Given the description of an element on the screen output the (x, y) to click on. 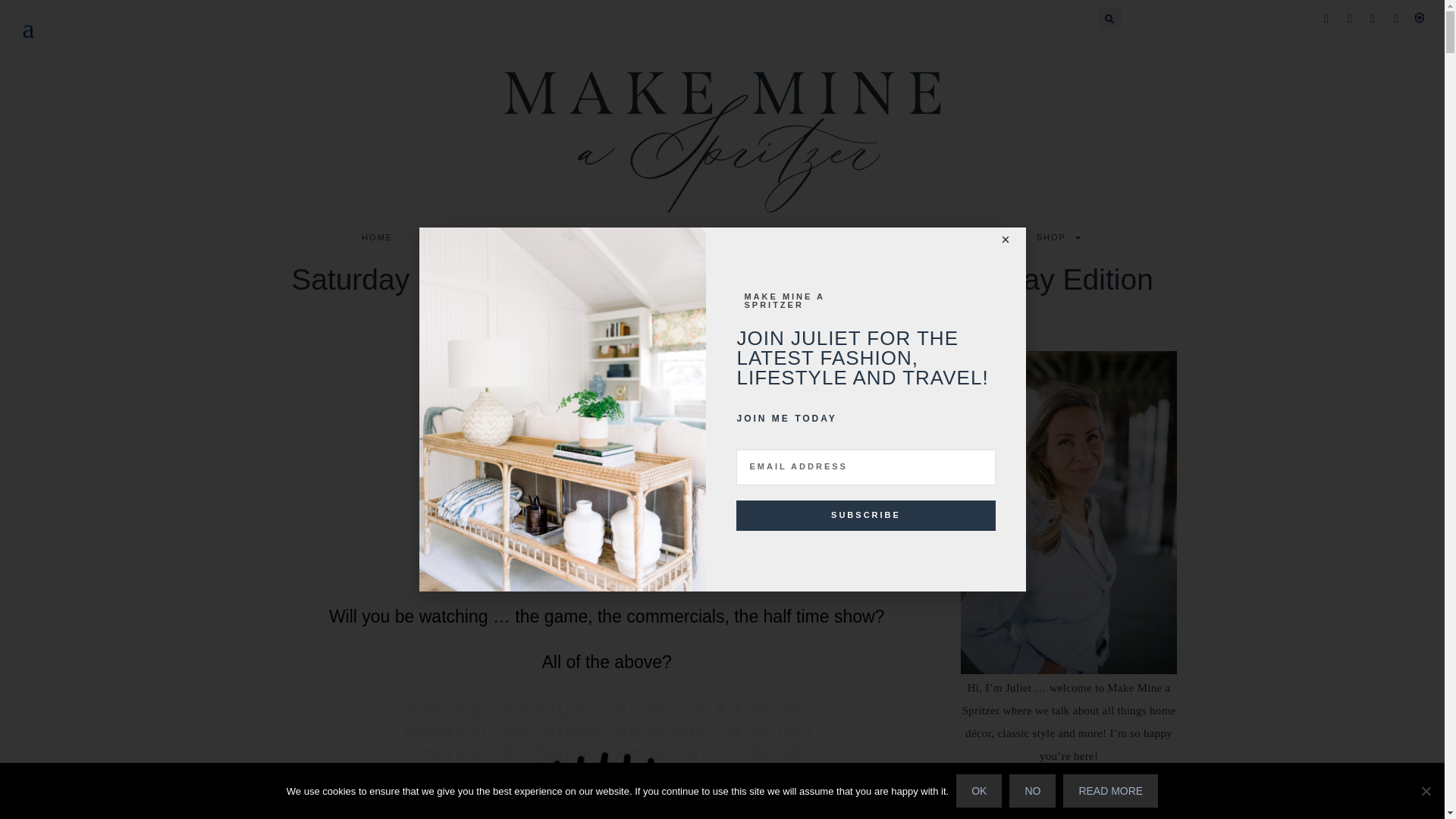
Default Label (1396, 17)
Twitter (1349, 17)
Twitter (1032, 793)
WEEKEND (449, 237)
Facebook (1326, 17)
SHOP (1059, 237)
Default Label (1419, 17)
Default Label (1063, 793)
Facebook (1001, 793)
MY TRAVELS (889, 237)
Default Label (1373, 17)
ABOUT (980, 237)
Default Label (1094, 793)
Default Label (1125, 793)
HOME (376, 237)
